Given the description of an element on the screen output the (x, y) to click on. 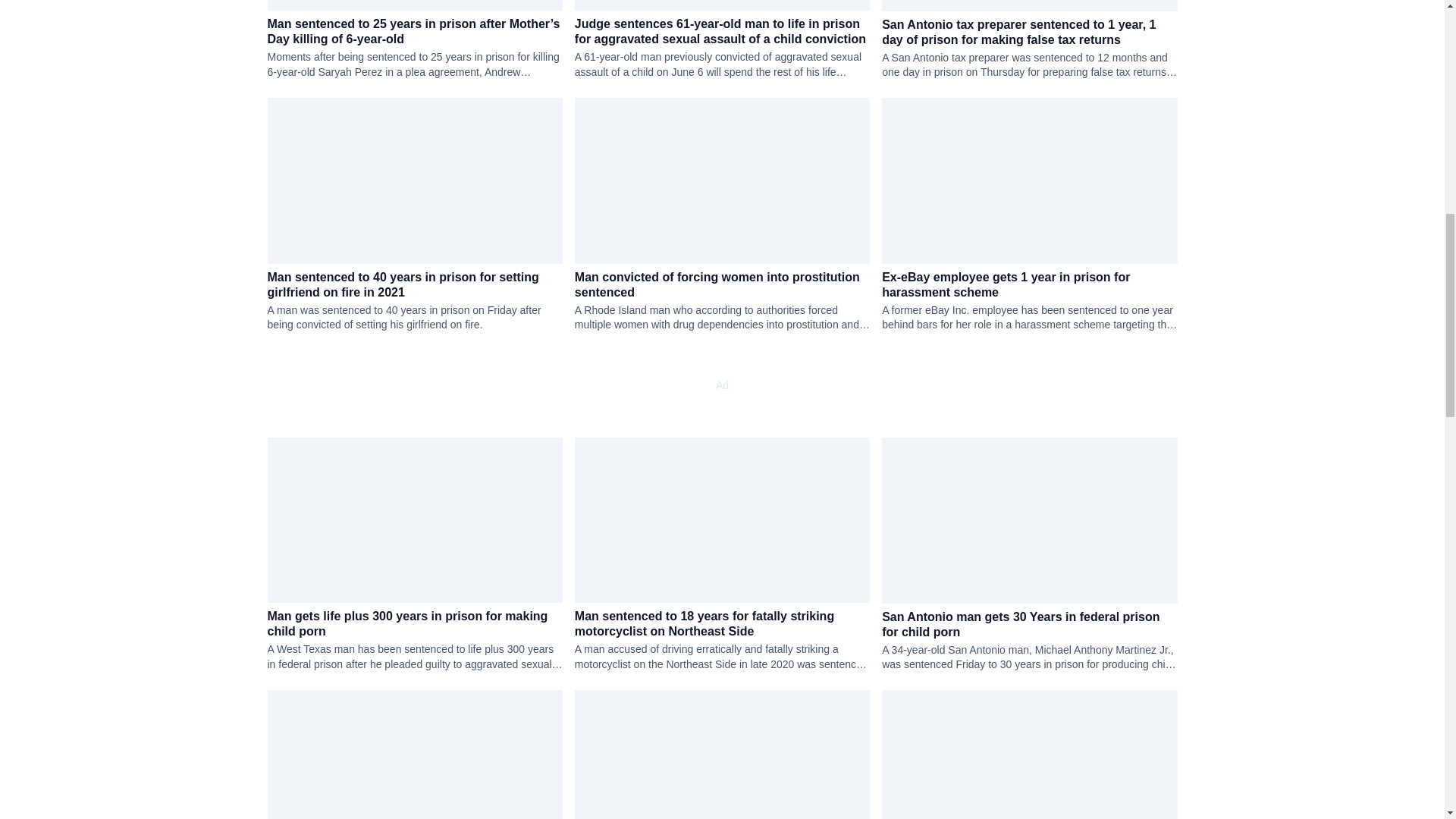
Man convicted of forcing women into prostitution sentenced (722, 285)
Man gets life plus 300 years in prison for making child porn (414, 624)
